Given the description of an element on the screen output the (x, y) to click on. 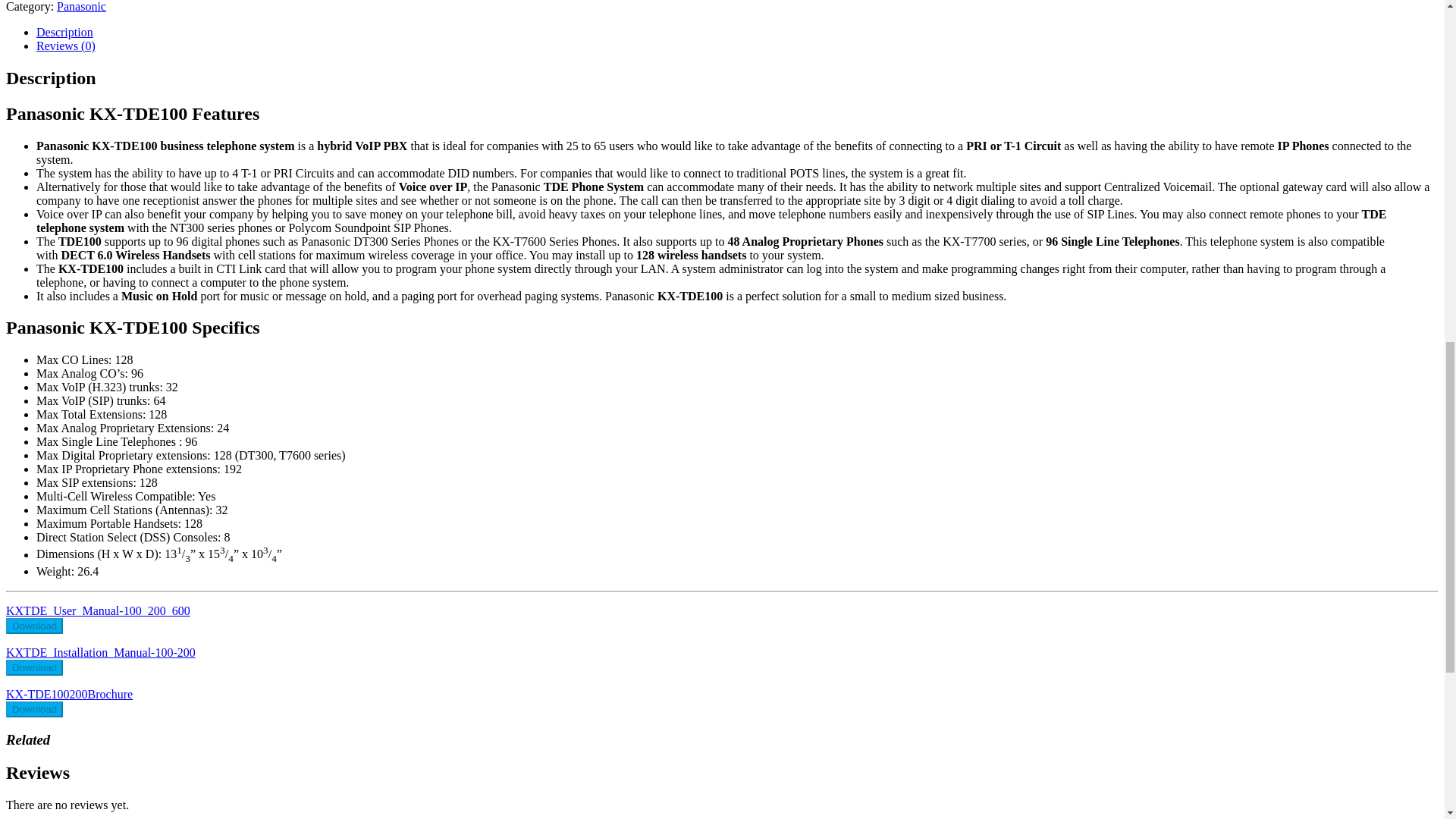
Download (33, 709)
Download (33, 625)
Description (64, 31)
Panasonic (81, 6)
Download (33, 667)
